Given the description of an element on the screen output the (x, y) to click on. 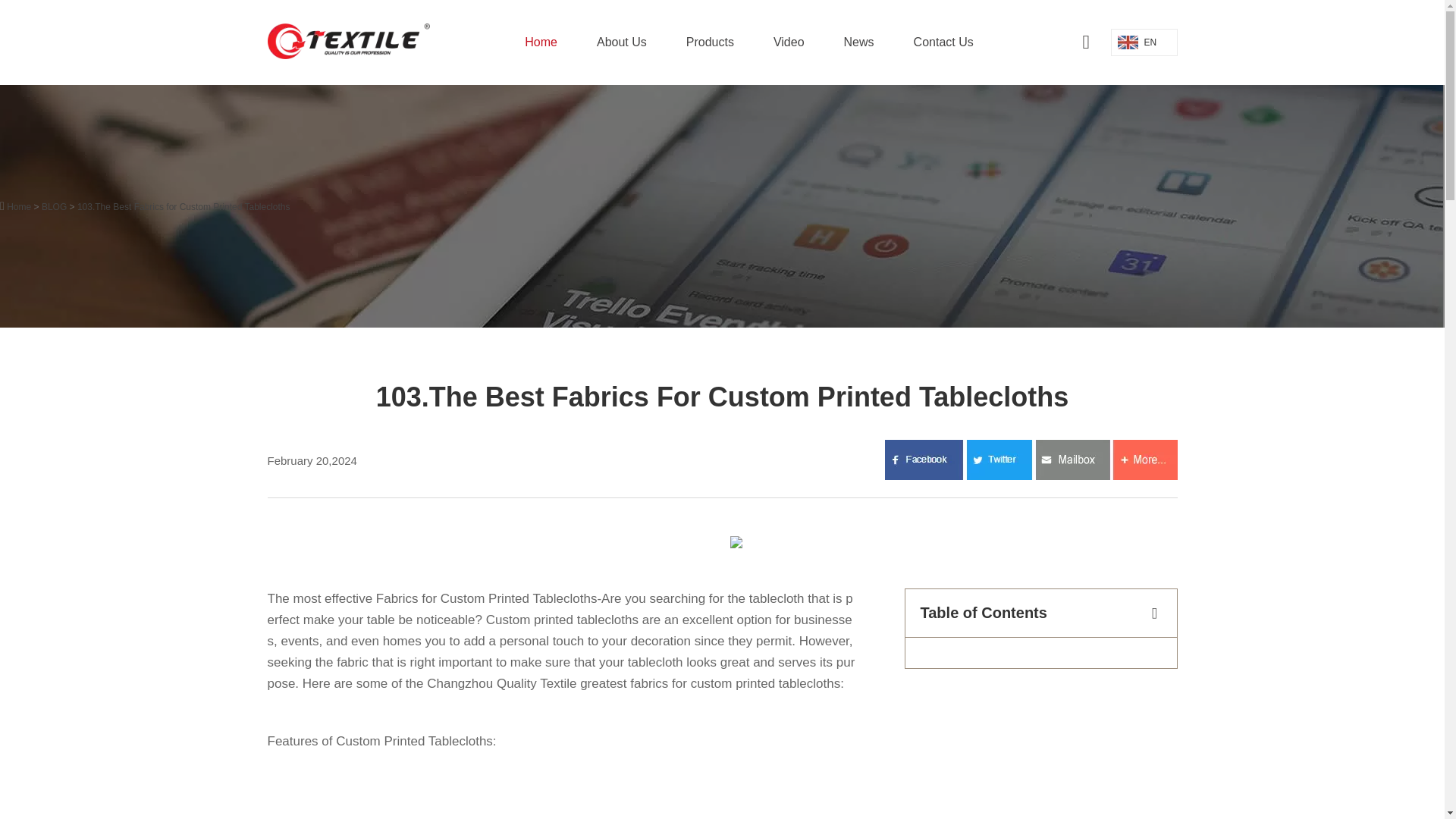
About Us (622, 42)
Home (540, 42)
Products (710, 42)
